Given the description of an element on the screen output the (x, y) to click on. 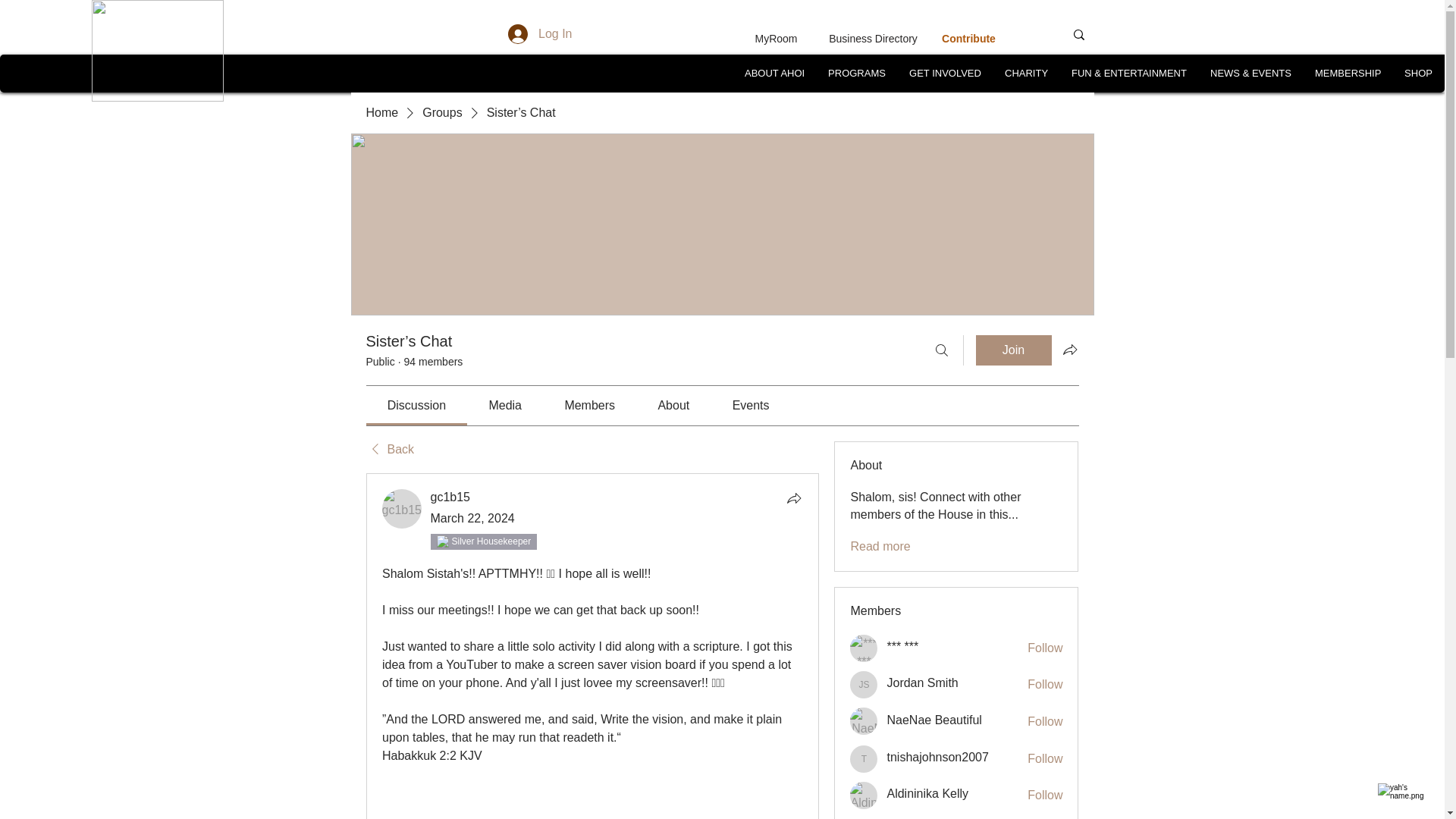
NaeNae Beautiful (863, 720)
Jordan Smith (922, 682)
Back (389, 449)
gc1b15 (450, 496)
gc1b15 (450, 496)
Join (1013, 349)
Jordan Smith (863, 684)
CHARITY (1025, 73)
Log In (539, 33)
March 22, 2024 (472, 517)
